Given the description of an element on the screen output the (x, y) to click on. 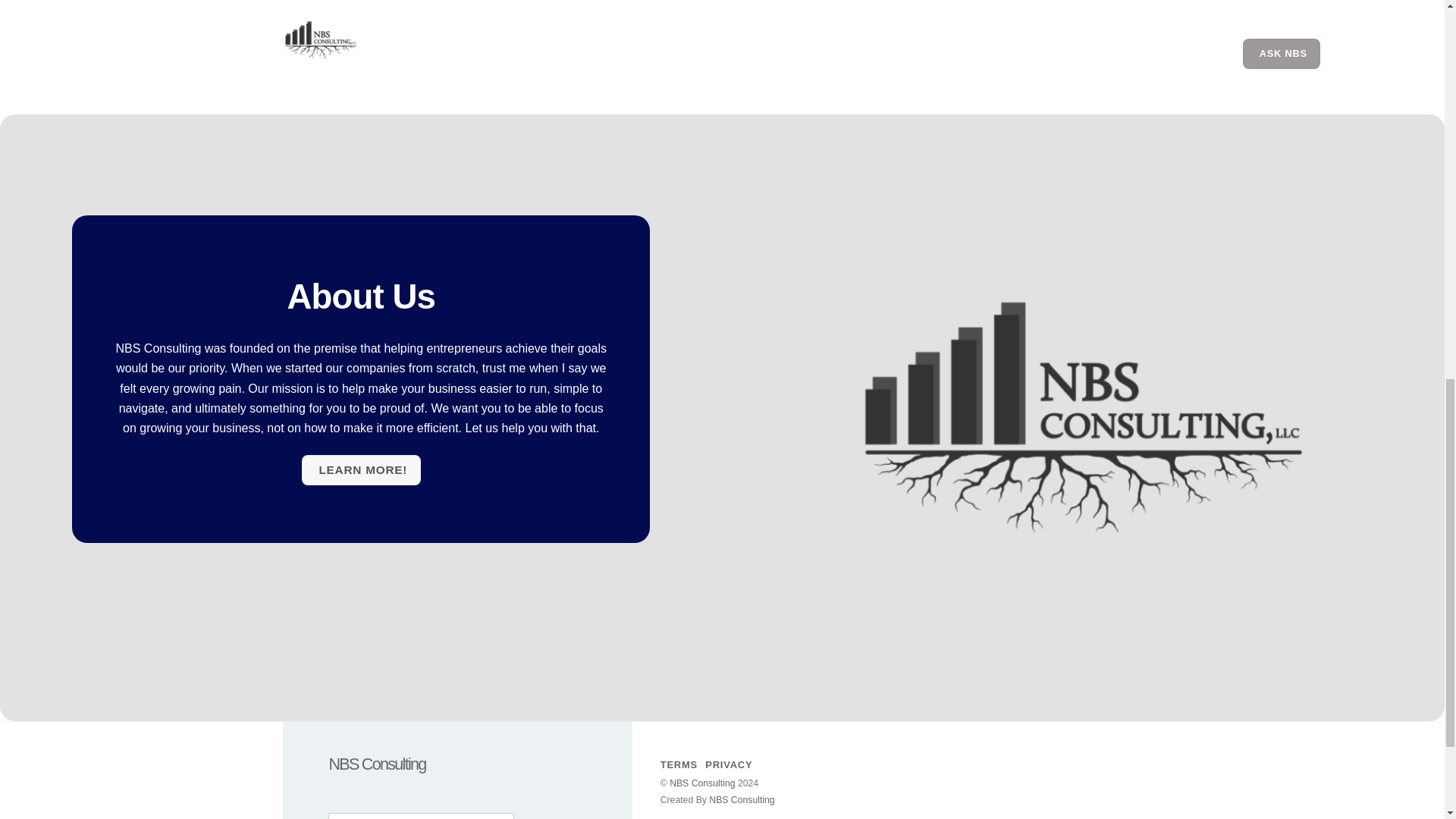
NBS Consulting (741, 799)
LEARN MORE! (360, 470)
NBS Consulting (702, 783)
NBS Consulting (377, 763)
NBS Consulting (377, 763)
TERMS (679, 764)
PRIVACY (728, 764)
ASK NBS (1281, 53)
